Given the description of an element on the screen output the (x, y) to click on. 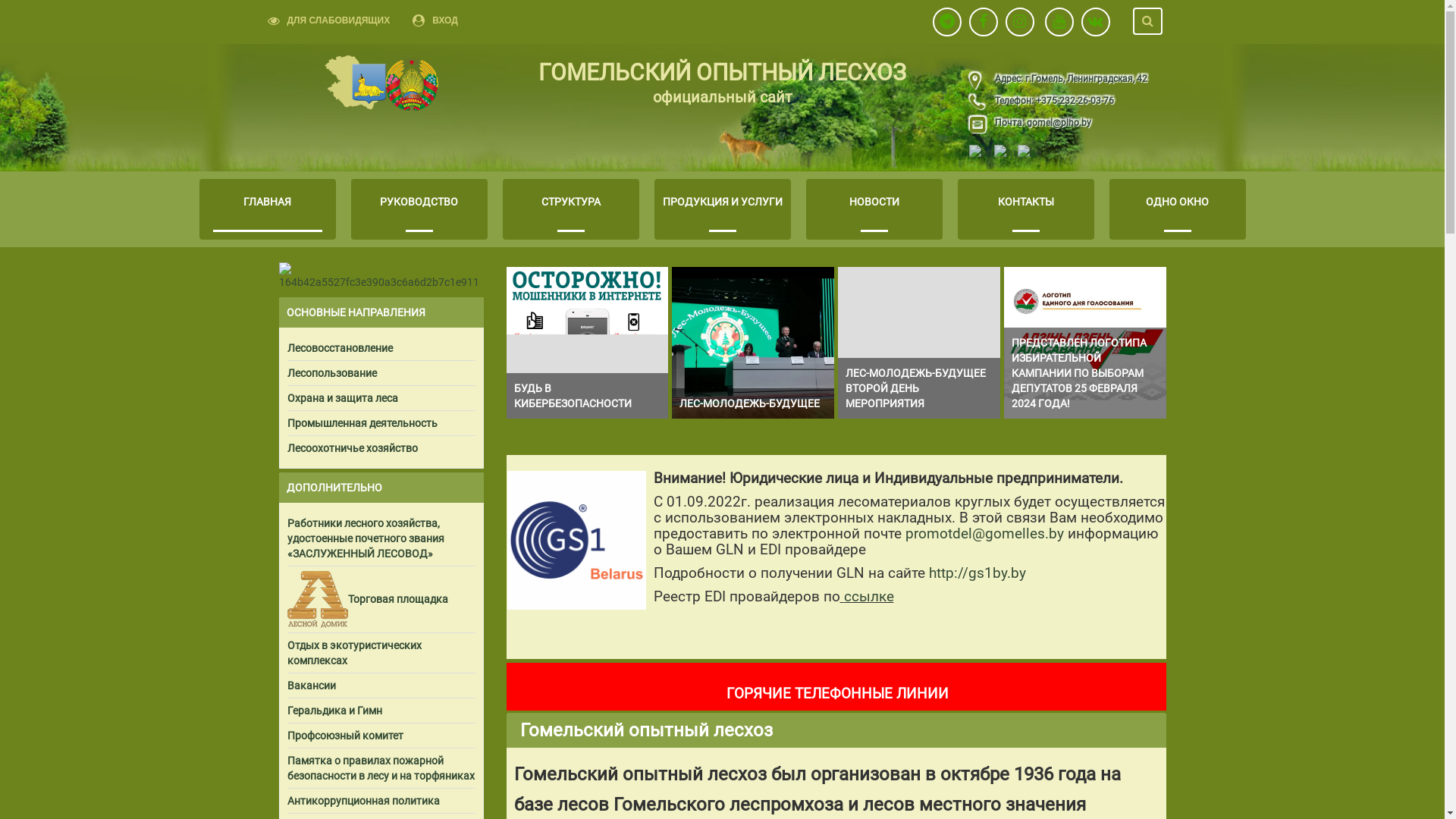
Russian Element type: hover (1004, 151)
gomel@plho.by Element type: text (1058, 122)
promotdel@gomelles.by Element type: text (984, 533)
Belarusian Element type: hover (1029, 151)
http://gs1by.by Element type: text (976, 572)
English Element type: hover (981, 151)
+375-232-26-03-76 Element type: text (1072, 100)
